Given the description of an element on the screen output the (x, y) to click on. 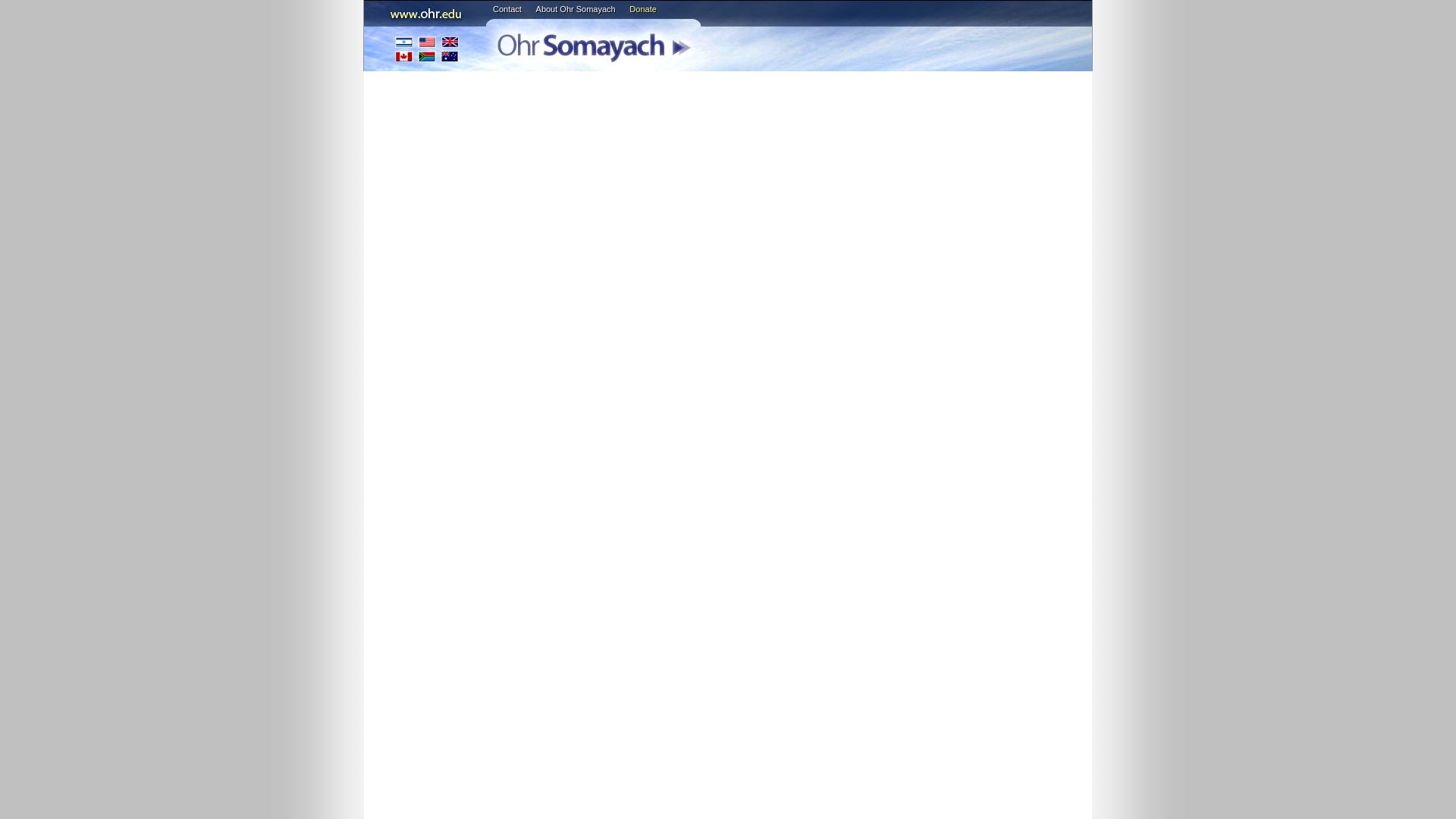
Donate (642, 8)
International Branches (427, 49)
About Ohr Somayach (575, 8)
International Branches (427, 49)
Contact (507, 8)
